Given the description of an element on the screen output the (x, y) to click on. 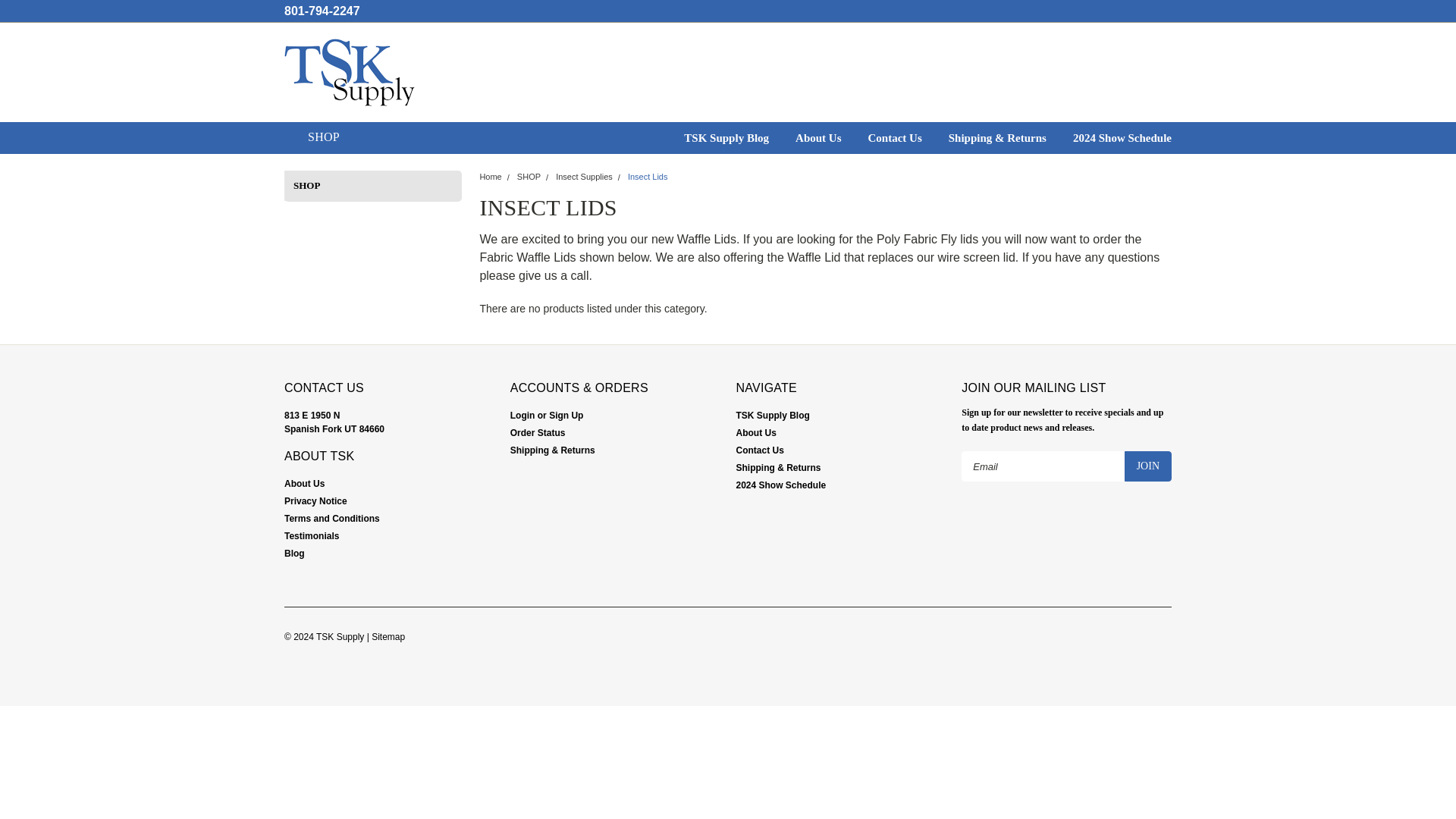
801-794-2247 (321, 10)
TSK Supply (348, 72)
Join (1148, 466)
